Given the description of an element on the screen output the (x, y) to click on. 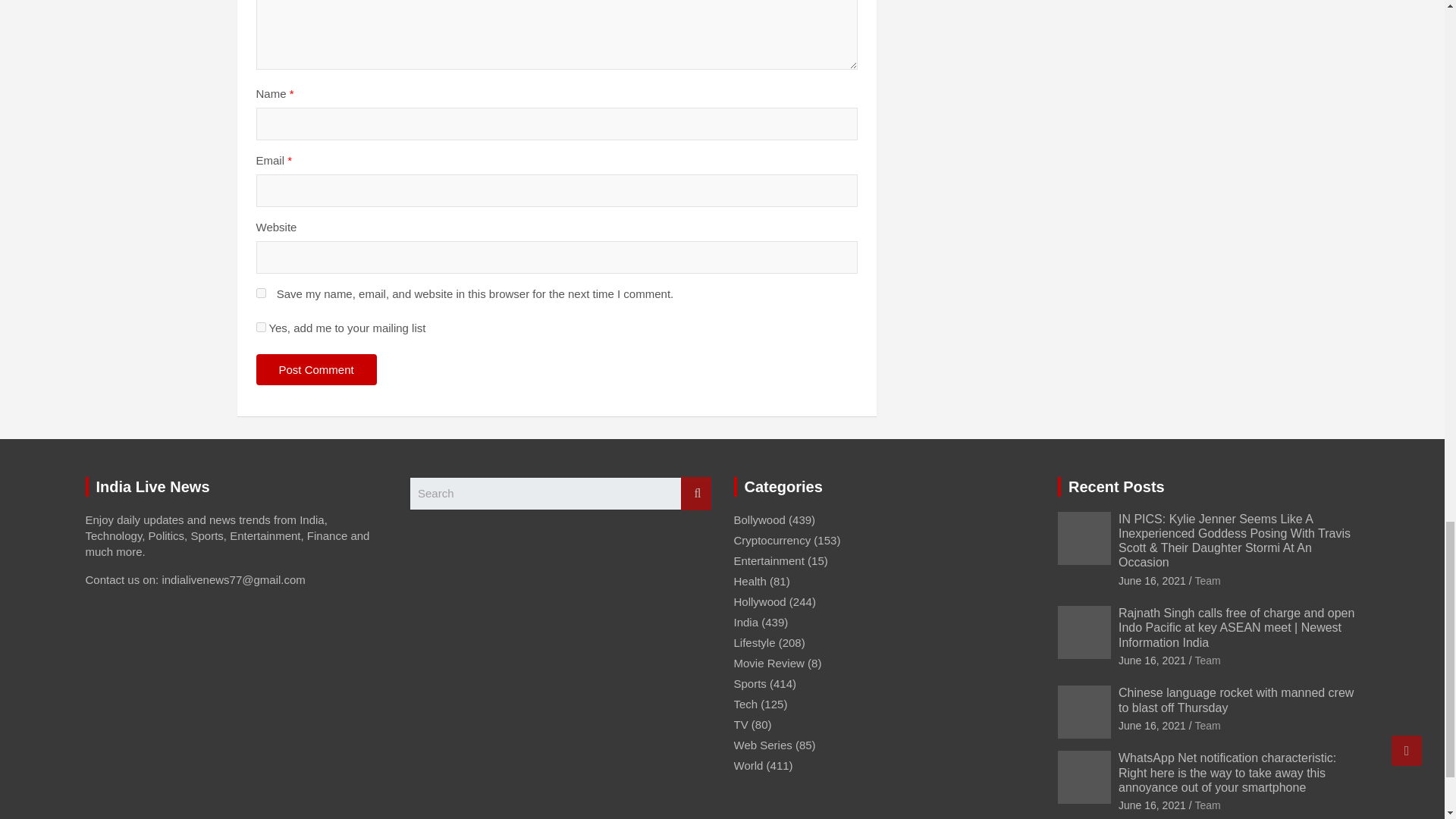
Bollywood (759, 519)
Post Comment (316, 368)
Cryptocurrency (771, 540)
1 (261, 327)
Post Comment (316, 368)
yes (261, 293)
Entertainment (769, 560)
Health (750, 581)
